Given the description of an element on the screen output the (x, y) to click on. 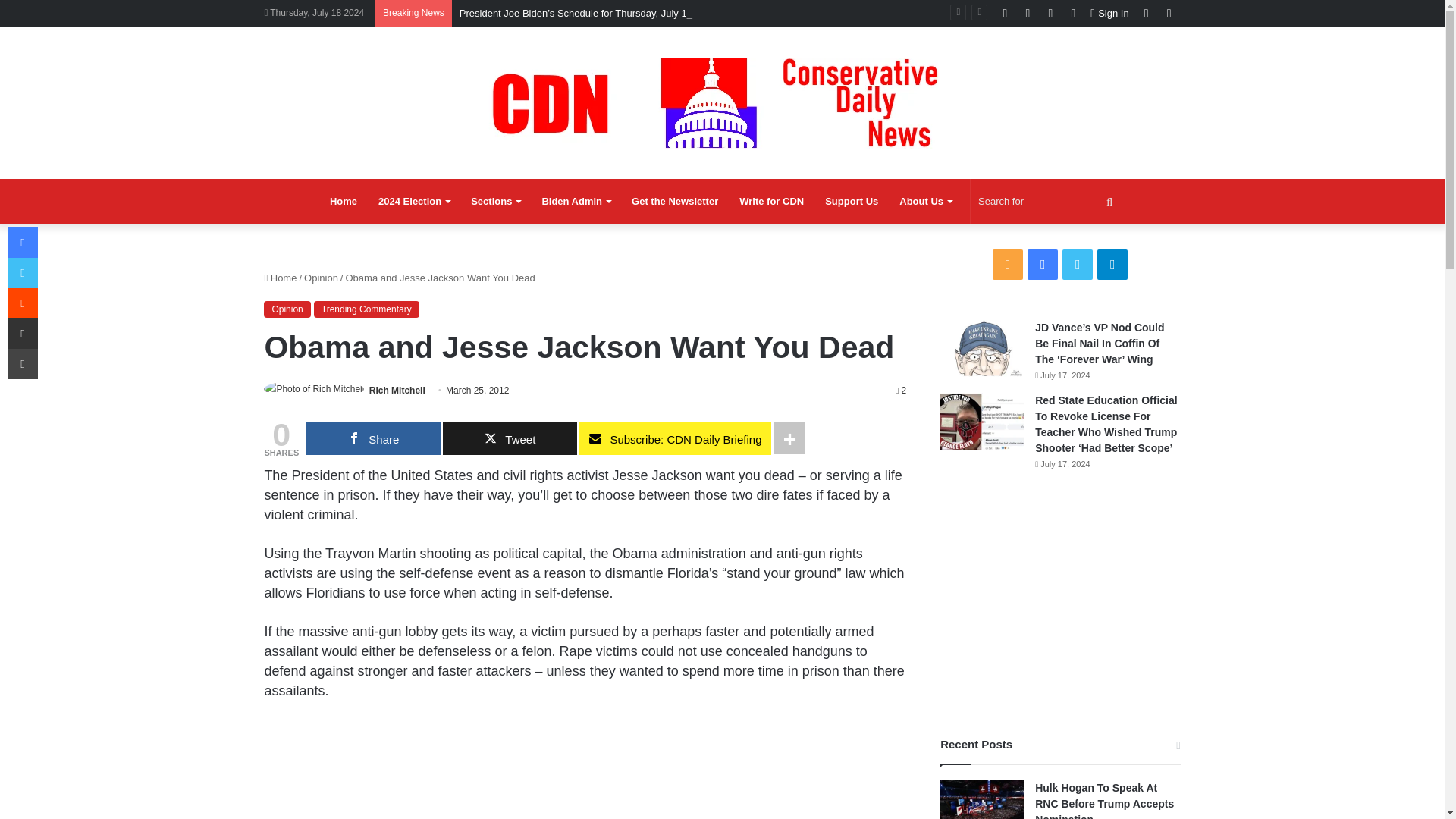
Search for (1047, 201)
Biden Admin (576, 201)
Conservative Daily News (721, 102)
About Us (925, 201)
Rich Mitchell (397, 389)
Sections (495, 201)
Support CDN With a Small Donation (850, 201)
2024 Election (414, 201)
Write for CDN (771, 201)
Home (343, 201)
Get the Newsletter (675, 201)
Support Us (850, 201)
Advertisement (584, 769)
Become a CDN Contributor (771, 201)
